Given the description of an element on the screen output the (x, y) to click on. 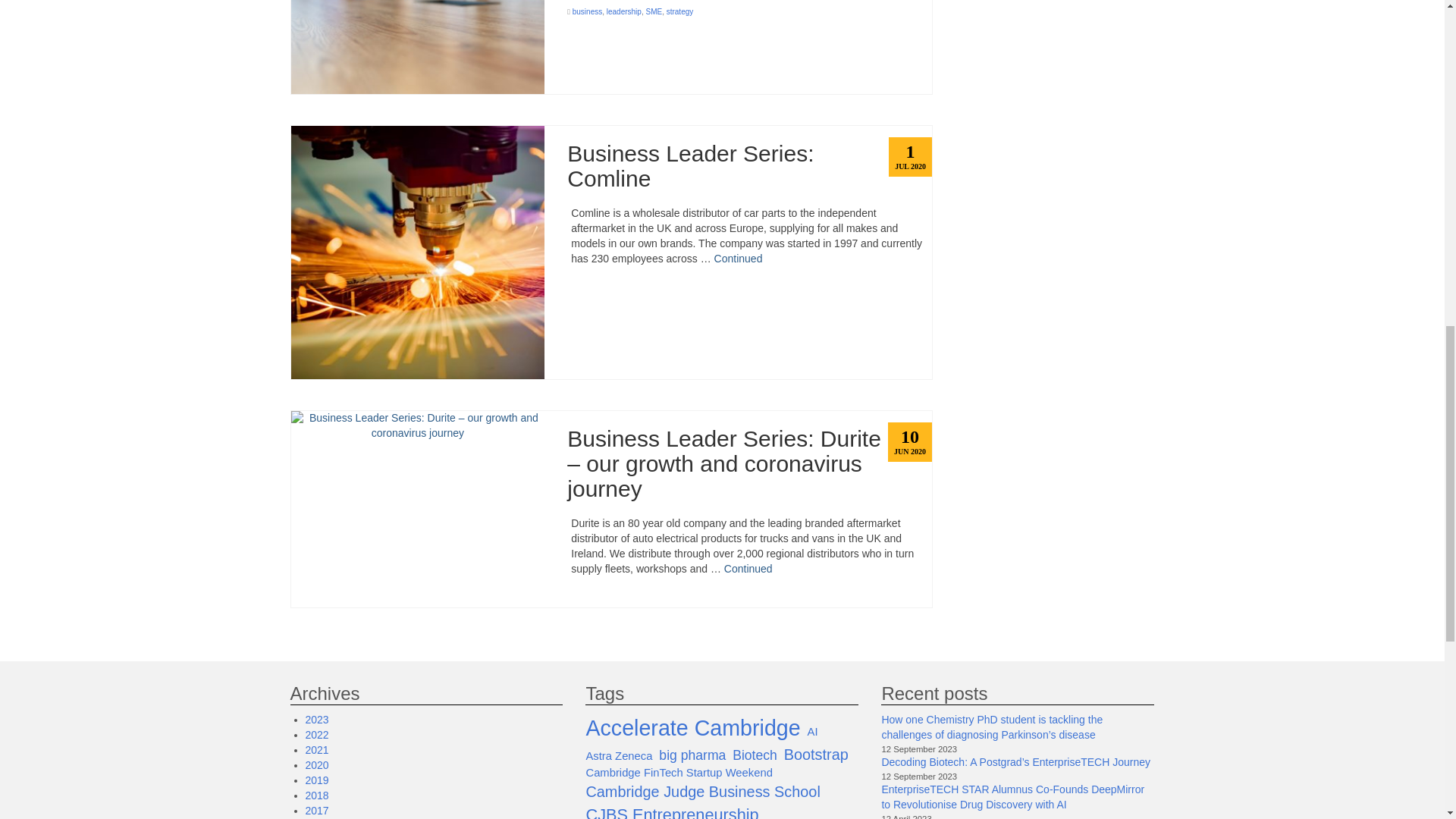
2021 (316, 749)
2019 (316, 779)
2018 (316, 795)
2023 (316, 719)
leadership (624, 11)
2017 (316, 810)
business (587, 11)
Continued (748, 568)
Business Leader Series: Comline (749, 165)
strategy (680, 11)
